Given the description of an element on the screen output the (x, y) to click on. 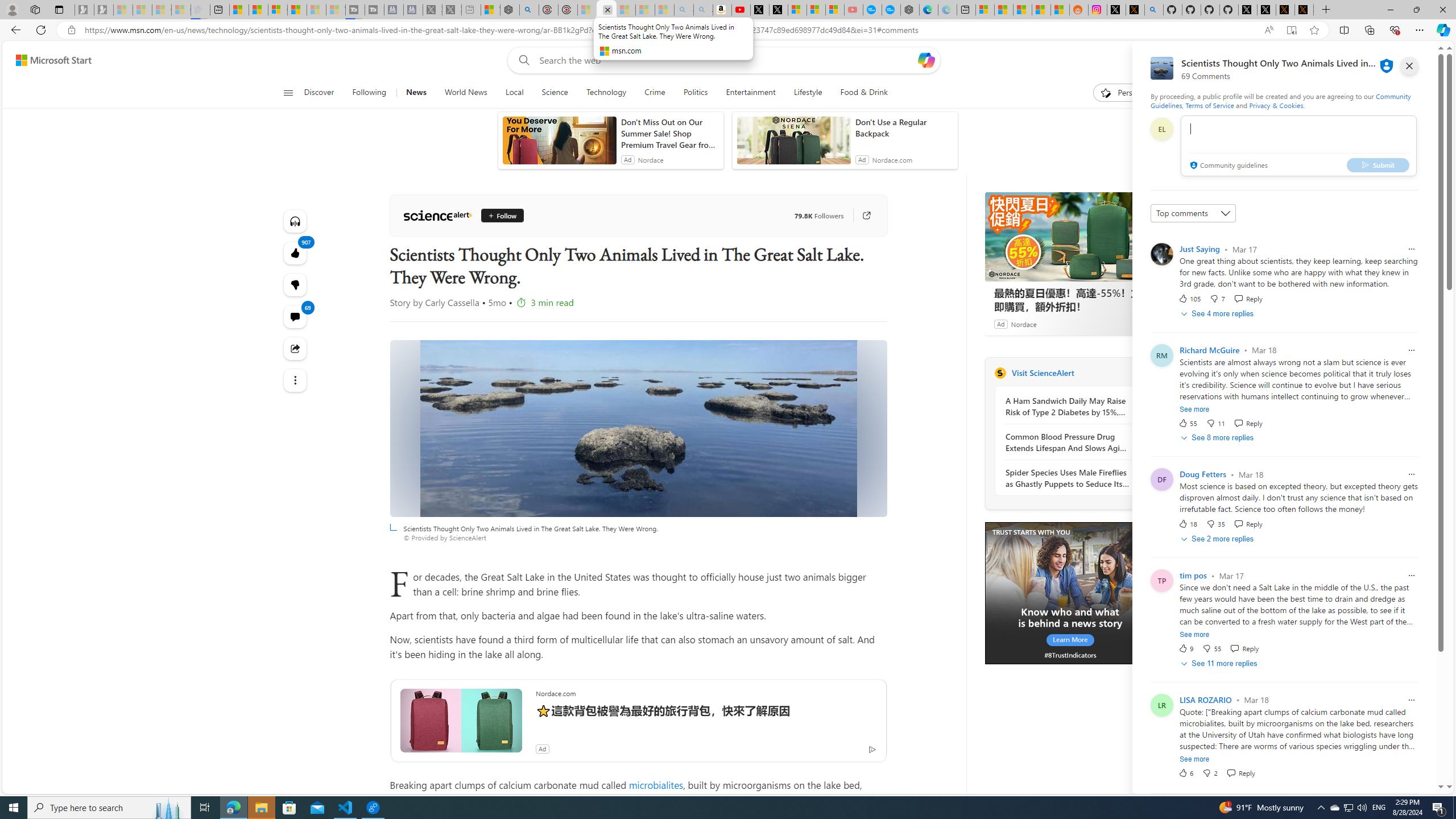
Community Guidelines (1280, 100)
Just Saying (1199, 248)
Personalize (1128, 92)
Share this story (295, 348)
Privacy & Cookies (1276, 104)
Listen to this article (295, 220)
Entertainment (750, 92)
Crime (655, 92)
